Given the description of an element on the screen output the (x, y) to click on. 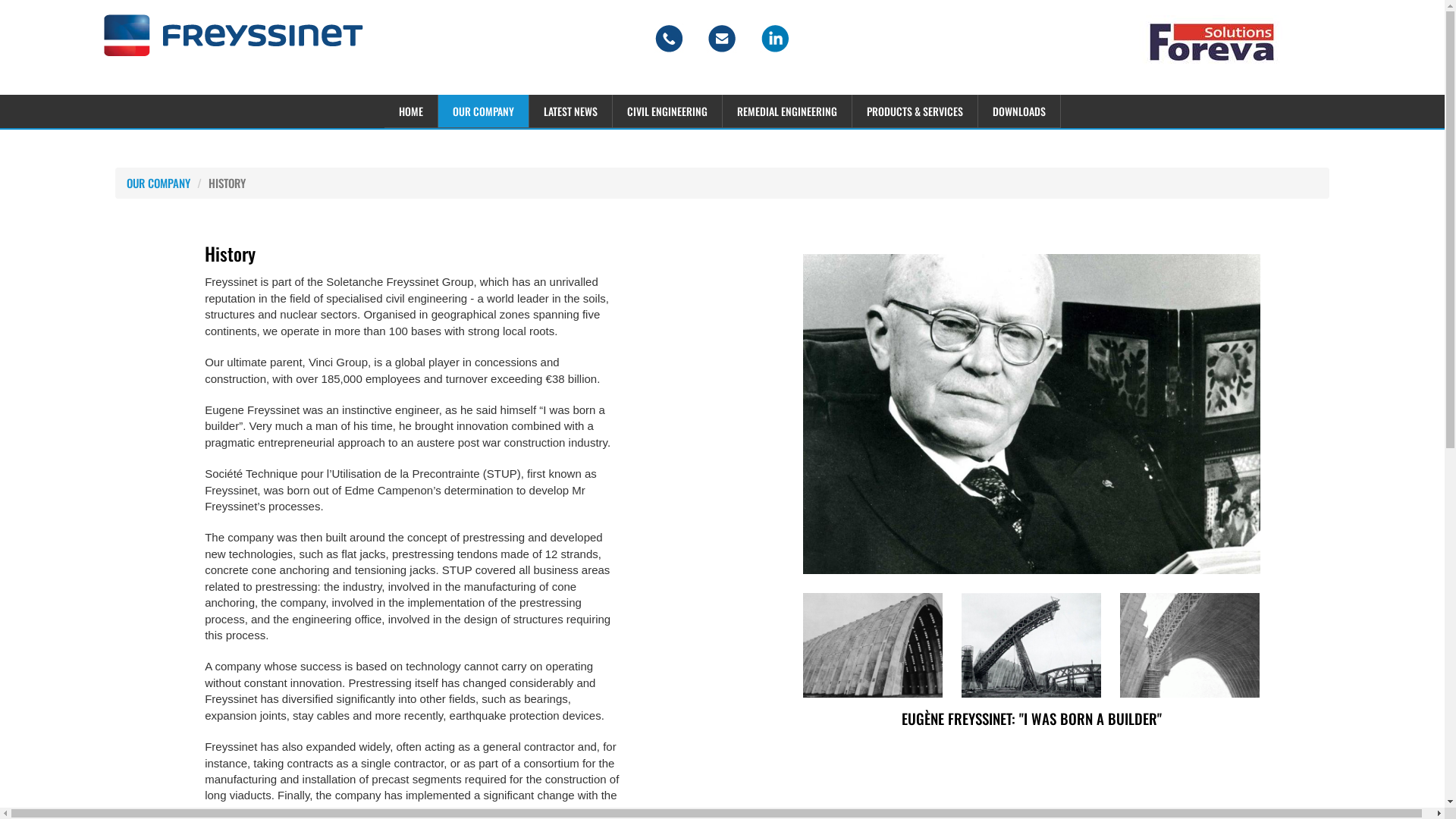
HOME Element type: text (410, 111)
REMEDIAL ENGINEERING Element type: text (786, 111)
OUR COMPANY Element type: text (158, 182)
OUR COMPANY Element type: text (483, 111)
LATEST NEWS Element type: text (570, 111)
DOWNLOADS Element type: text (1019, 111)
PRODUCTS & SERVICES Element type: text (915, 111)
History Element type: hover (1031, 413)
Skip to main content Element type: text (51, 0)
CIVIL ENGINEERING Element type: text (667, 111)
